Given the description of an element on the screen output the (x, y) to click on. 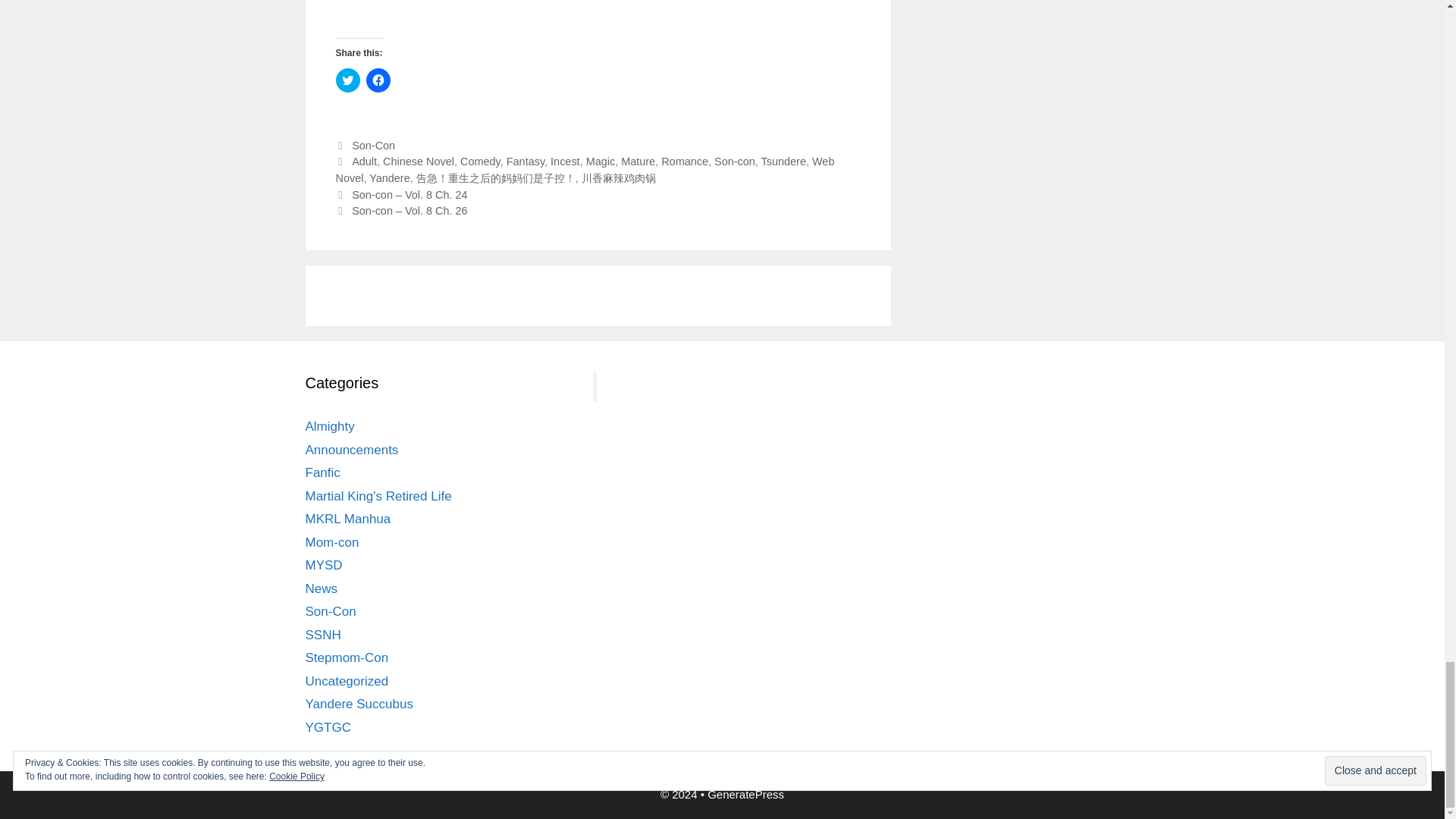
Adult (364, 161)
Comedy (480, 161)
Next (400, 210)
Chinese Novel (418, 161)
Tsundere (783, 161)
Son-Con (373, 145)
Magic (600, 161)
Web Novel (584, 169)
Fantasy (525, 161)
Romance (684, 161)
